Given the description of an element on the screen output the (x, y) to click on. 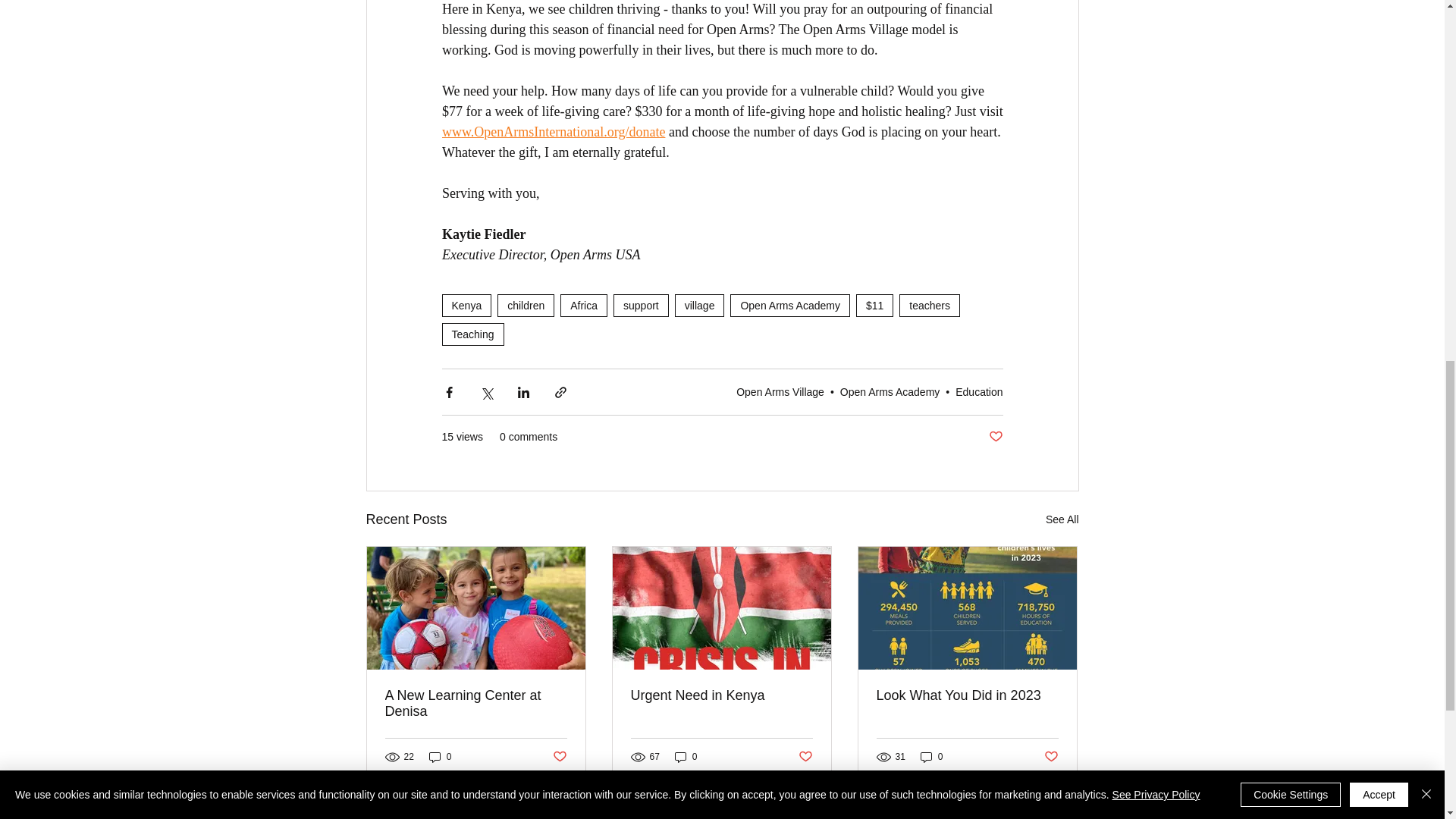
0 (440, 756)
Africa (583, 305)
Open Arms Village (780, 390)
Open Arms Academy (790, 305)
Look What You Did in 2023 (967, 695)
Post not marked as liked (558, 756)
Kenya (466, 305)
See All (1061, 519)
support (640, 305)
Open Arms Academy (890, 390)
